Given the description of an element on the screen output the (x, y) to click on. 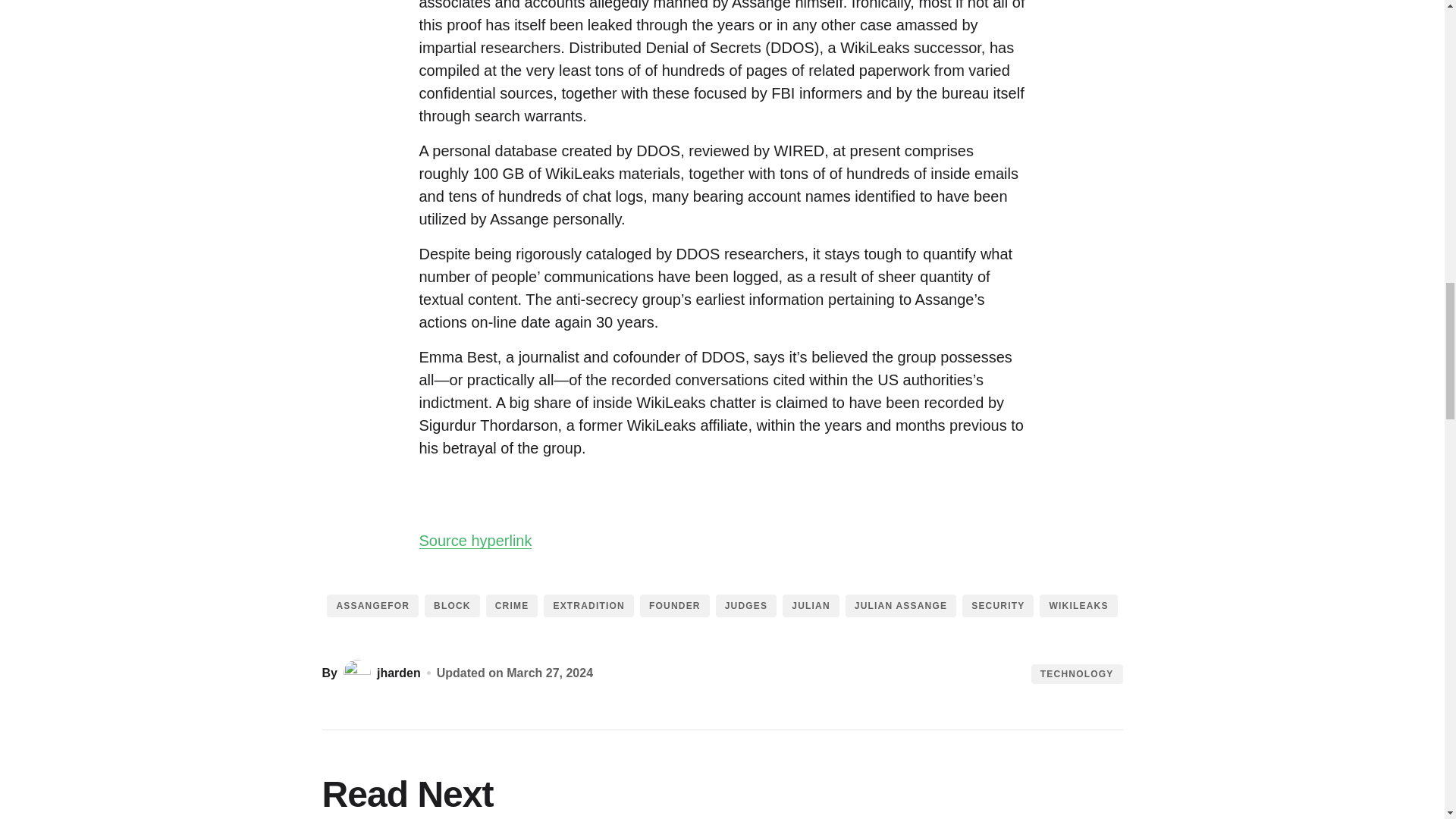
FOUNDER (675, 605)
JULIAN ASSANGE (900, 605)
JULIAN (811, 605)
SECURITY (997, 605)
CRIME (512, 605)
WIKILEAKS (1077, 605)
EXTRADITION (588, 605)
JUDGES (746, 605)
TECHNOLOGY (1076, 673)
ASSANGEFOR (372, 605)
